Given the description of an element on the screen output the (x, y) to click on. 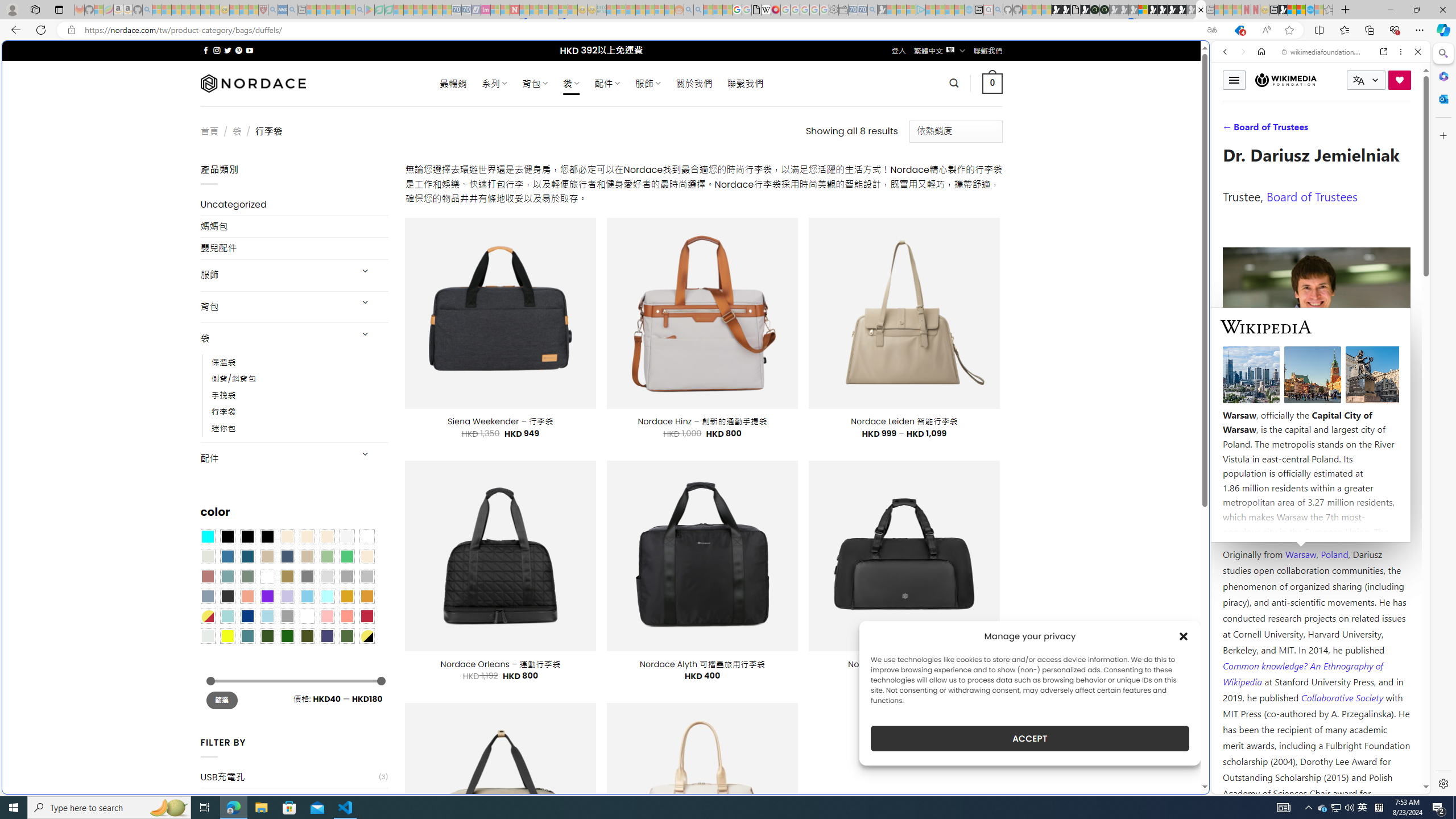
MediaWiki (774, 9)
Follow on Pinterest (237, 50)
Tabs you've opened (885, 151)
